Given the description of an element on the screen output the (x, y) to click on. 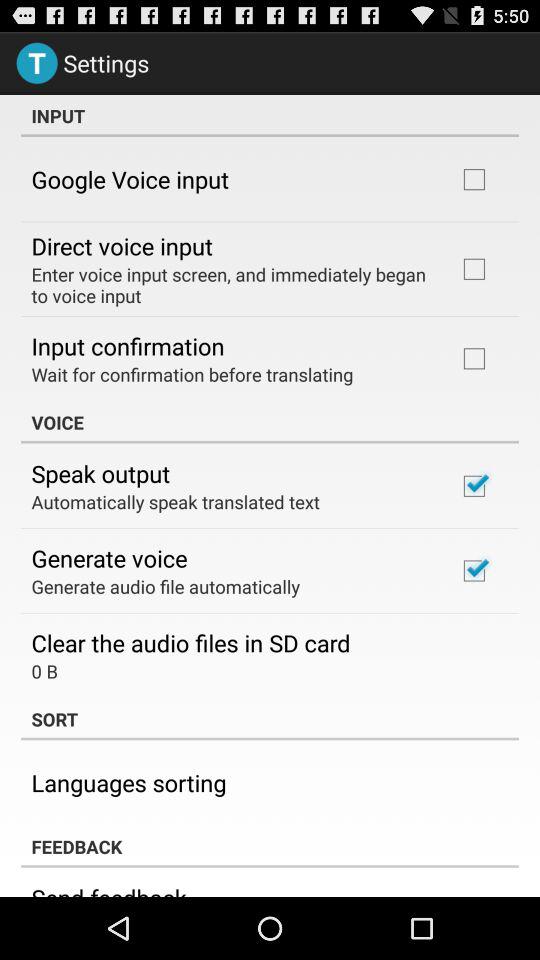
press the item below sort icon (128, 782)
